Given the description of an element on the screen output the (x, y) to click on. 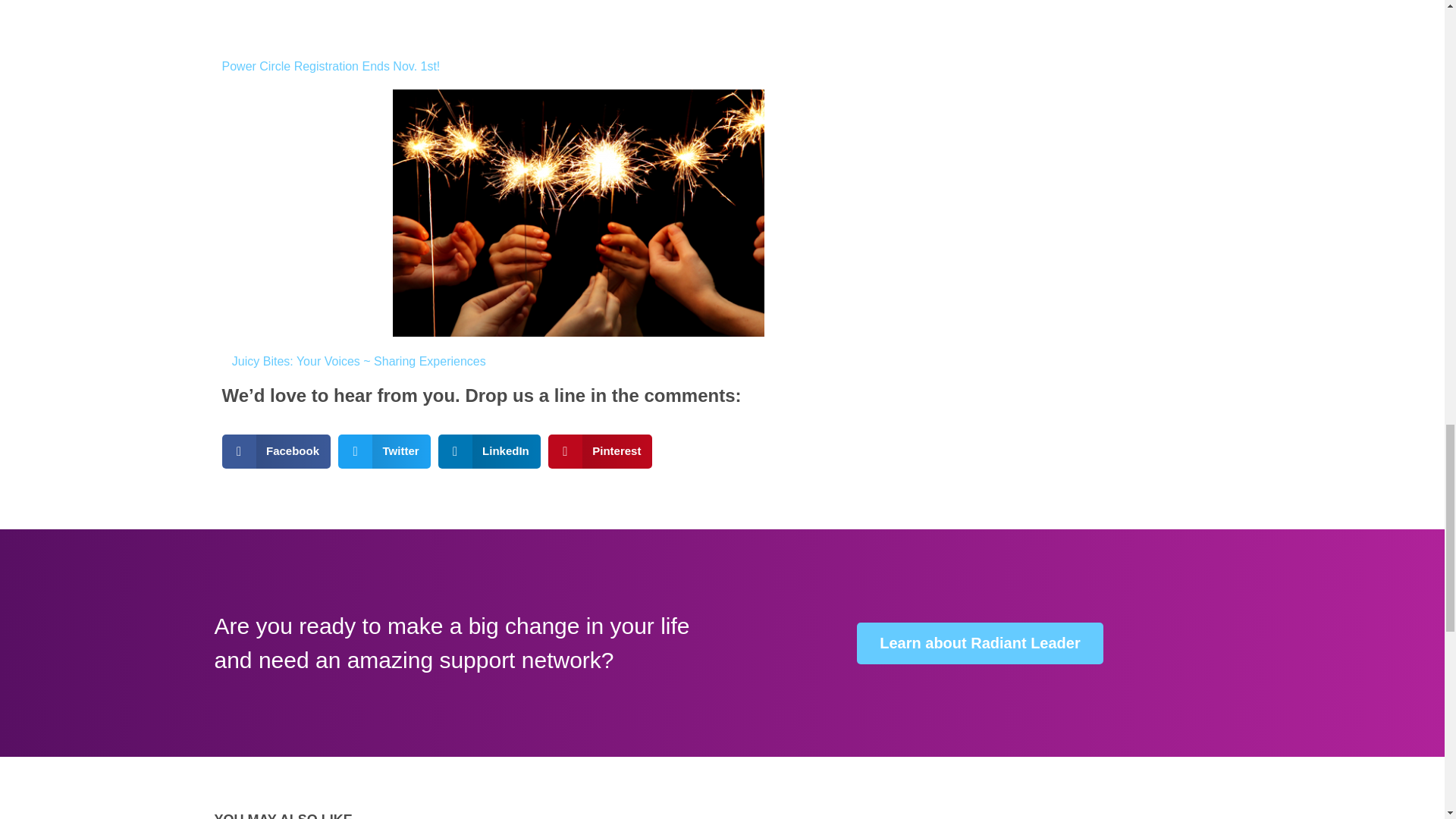
Power Circles (330, 65)
Juicy Bites: Shared Experiences (358, 360)
